Given the description of an element on the screen output the (x, y) to click on. 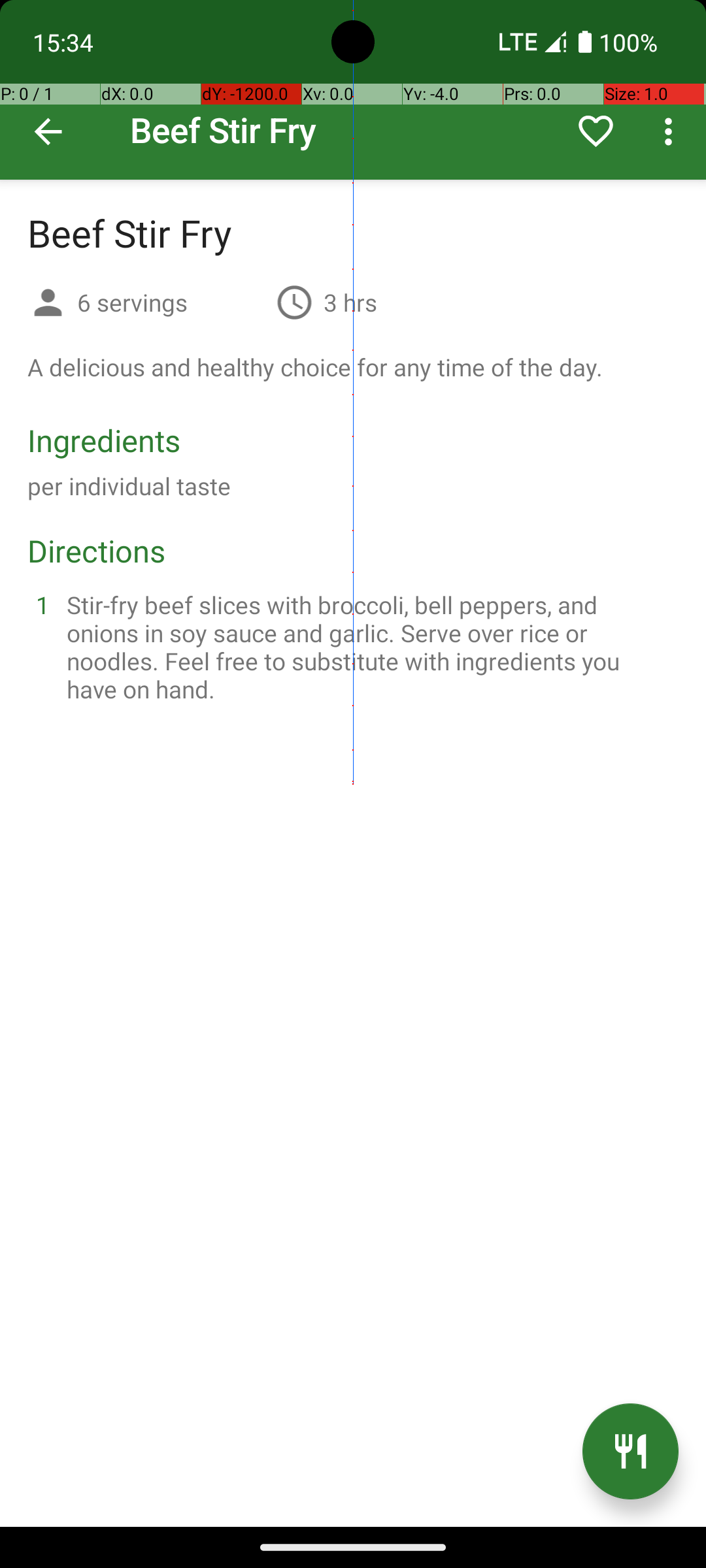
Stir-fry beef slices with broccoli, bell peppers, and onions in soy sauce and garlic. Serve over rice or noodles. Feel free to substitute with ingredients you have on hand. Element type: android.widget.TextView (368, 646)
